Given the description of an element on the screen output the (x, y) to click on. 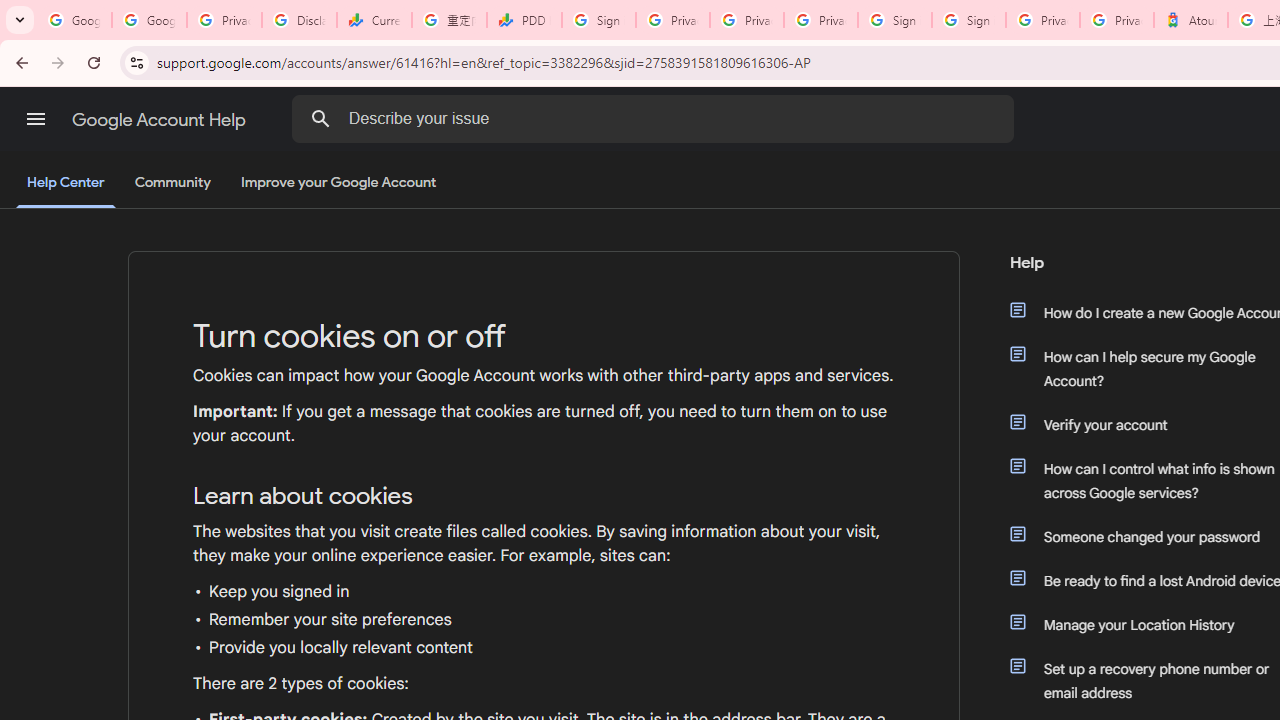
Atour Hotel - Google hotels (1190, 20)
PDD Holdings Inc - ADR (PDD) Price & News - Google Finance (523, 20)
Community (171, 183)
Improve your Google Account (339, 183)
Search Help Center (320, 118)
Privacy Checkup (747, 20)
Describe your issue (655, 118)
Currencies - Google Finance (374, 20)
Sign in - Google Accounts (968, 20)
